Given the description of an element on the screen output the (x, y) to click on. 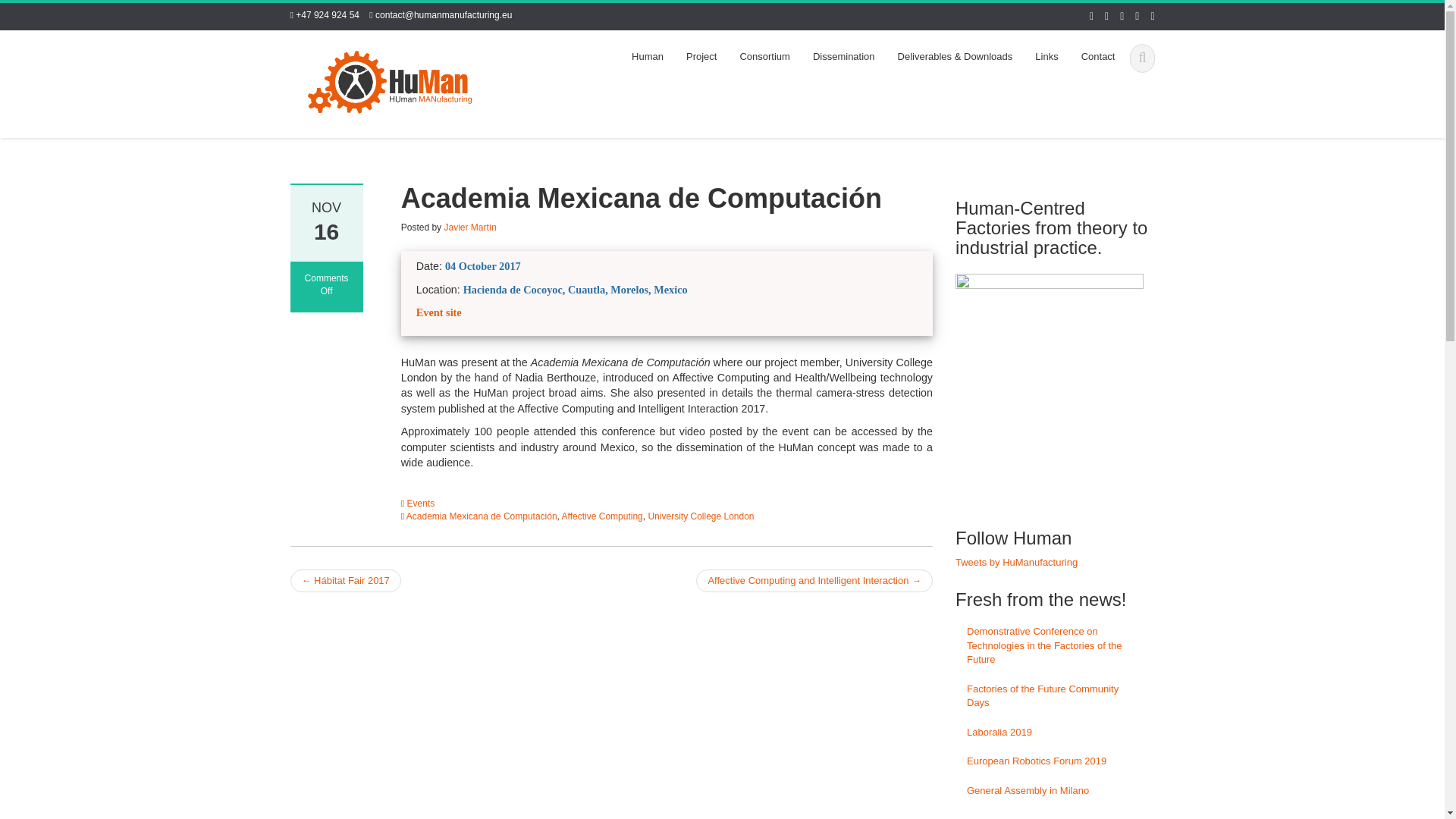
Project (701, 57)
Event site (438, 312)
Human (647, 57)
Contact (1098, 57)
Affective Computing (602, 516)
Factories of the Future Community Days (1054, 696)
Laboralia 2019 (1054, 732)
University College London (700, 516)
Consortium (764, 57)
European Robotics Forum 2019 (1054, 761)
General Assembly in Milano (1054, 790)
Tweets by HuManufacturing (1016, 562)
Events (419, 502)
Human Manufacturing (390, 79)
